Given the description of an element on the screen output the (x, y) to click on. 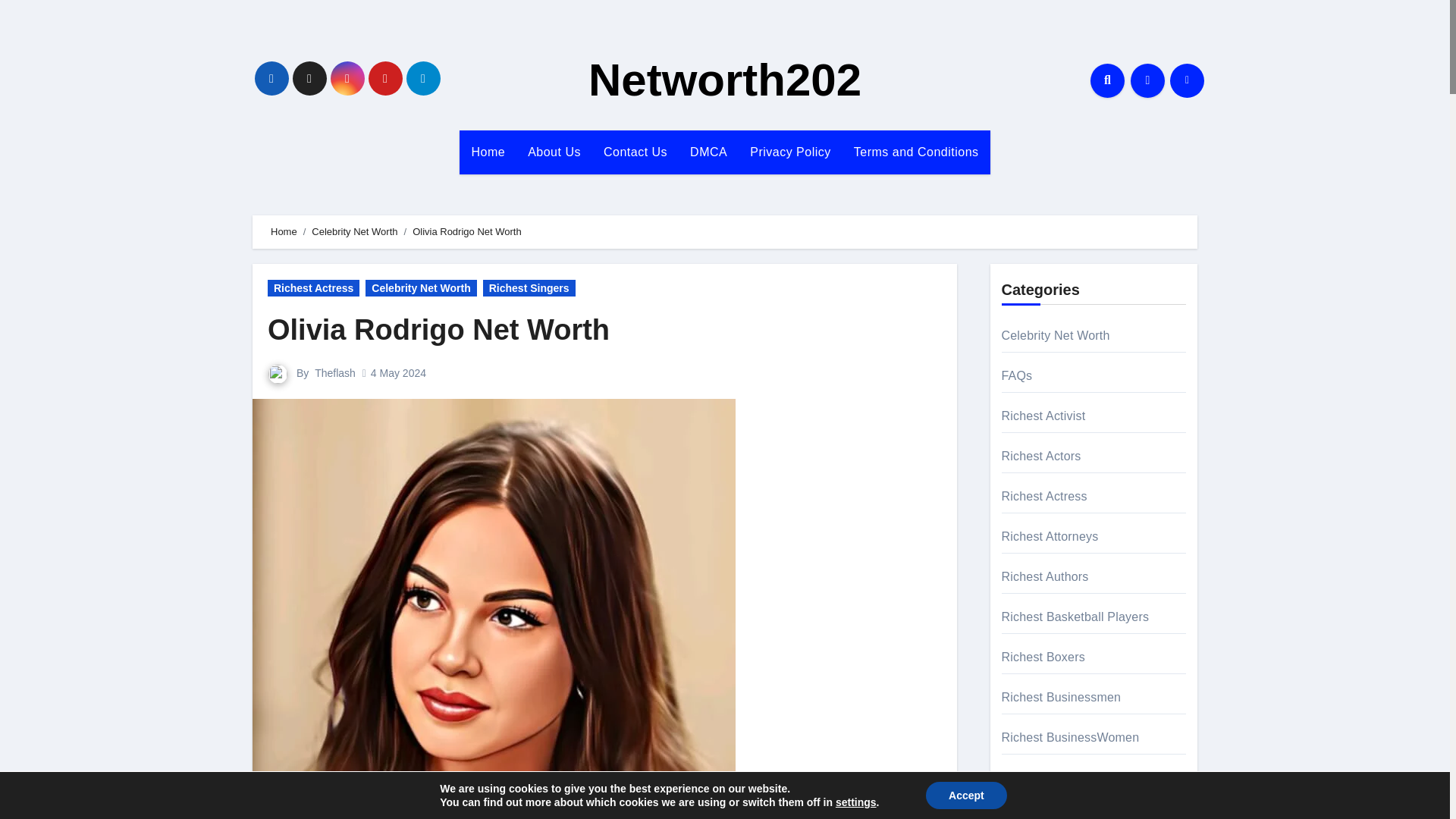
Home (488, 152)
Contact Us (635, 152)
About Us (554, 152)
Theflash (334, 372)
Networth202 (724, 79)
DMCA (708, 152)
Privacy Policy (790, 152)
Home (283, 231)
Richest Singers (529, 288)
Terms and Conditions (916, 152)
4 May 2024 (398, 372)
Celebrity Net Worth (354, 231)
Olivia Rodrigo Net Worth (438, 329)
Celebrity Net Worth (420, 288)
Richest Actress (313, 288)
